Given the description of an element on the screen output the (x, y) to click on. 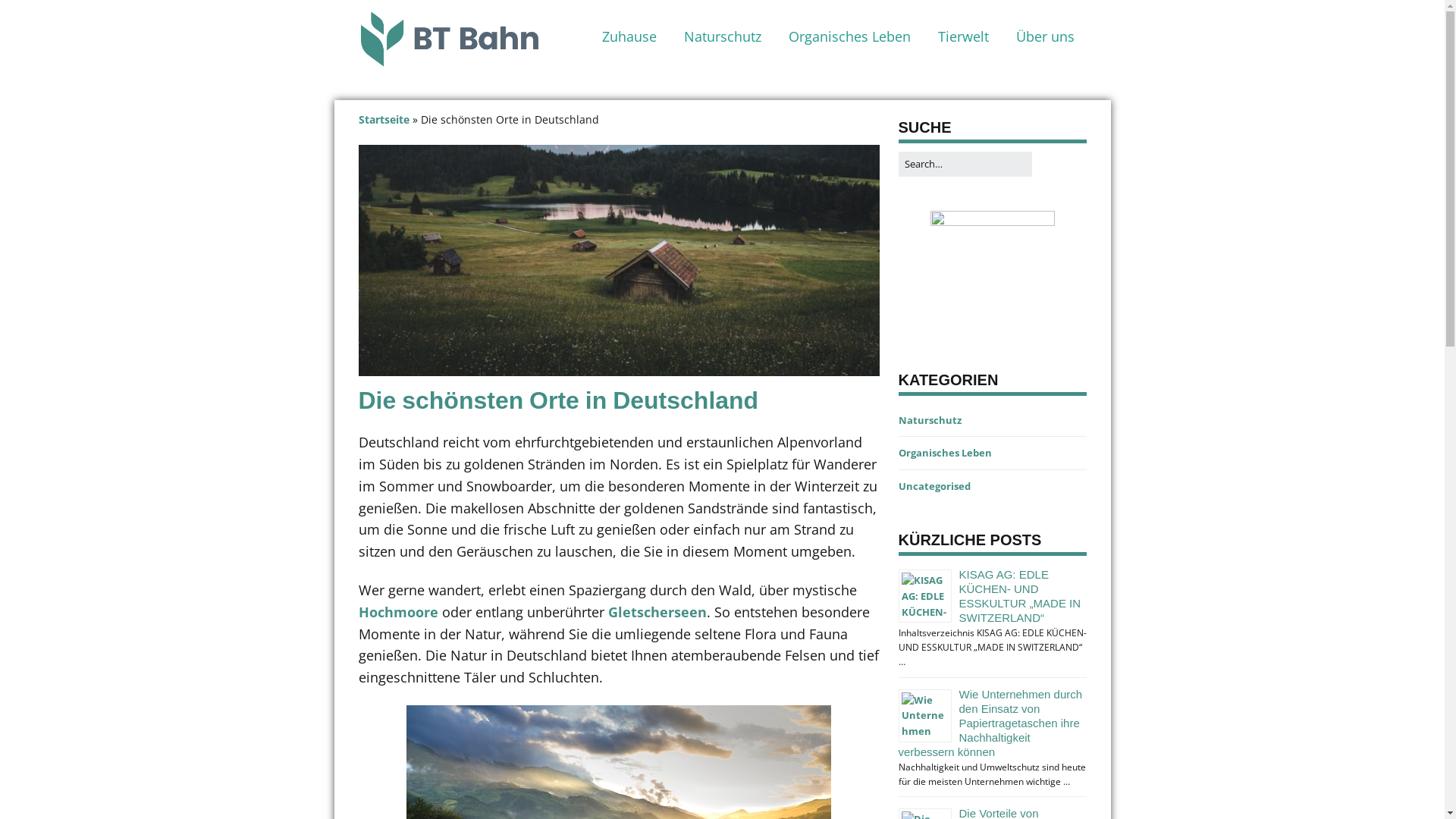
Uncategorised Element type: text (933, 485)
cropped-logo1.png Element type: hover (448, 38)
Naturschutz Element type: text (722, 36)
Startseite Element type: text (382, 119)
Gletscherseen Element type: text (657, 611)
Hochmoore Element type: text (397, 611)
Naturschutz Element type: text (928, 419)
Search Element type: text (1031, 150)
Tierwelt Element type: text (962, 36)
Organisches Leben Element type: text (944, 452)
Zuhause Element type: text (628, 36)
Organisches Leben Element type: text (849, 36)
